Given the description of an element on the screen output the (x, y) to click on. 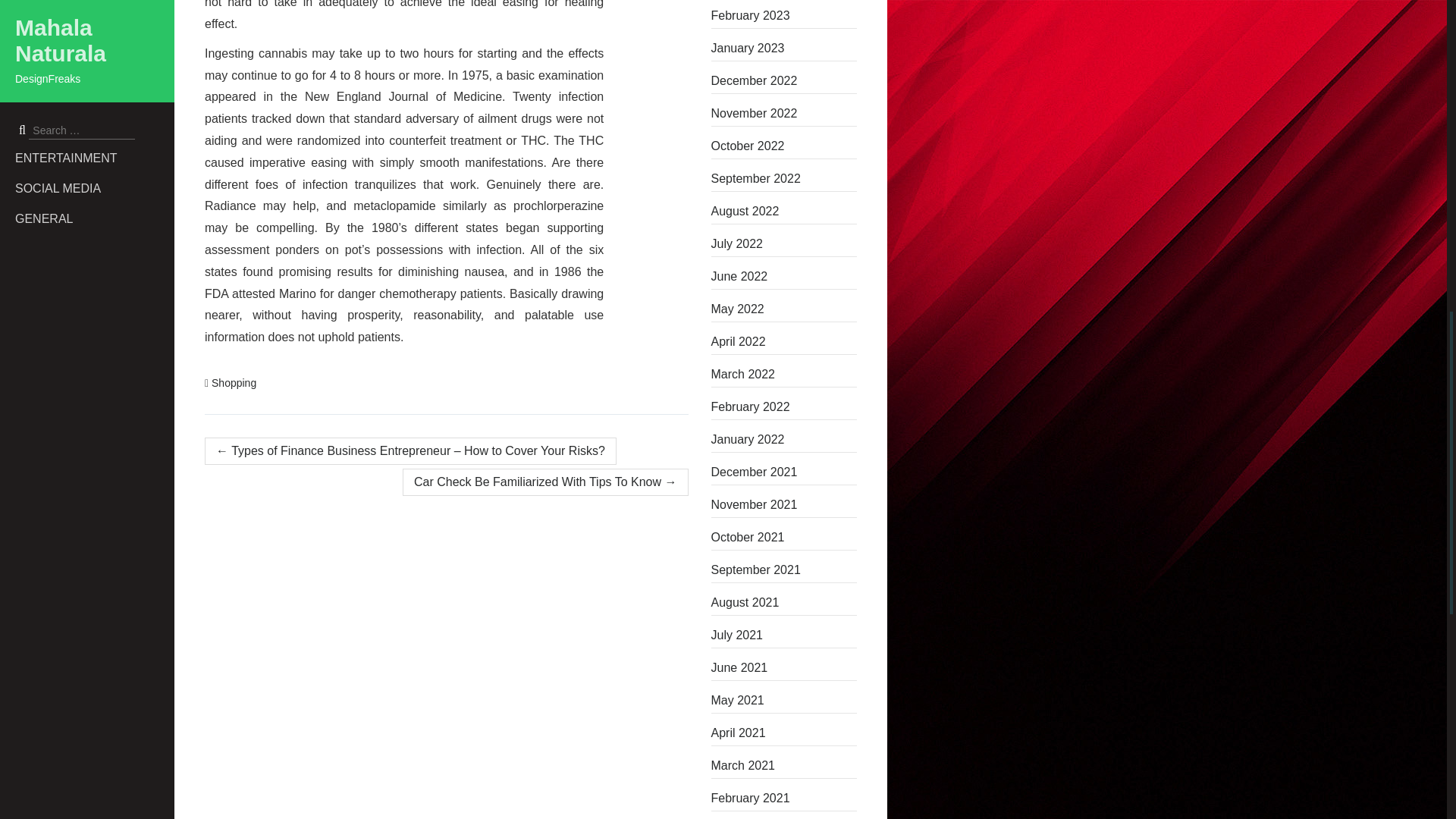
August 2022 (784, 211)
December 2022 (784, 80)
Shopping (233, 382)
November 2022 (784, 113)
July 2022 (784, 243)
September 2022 (784, 178)
October 2022 (784, 146)
February 2023 (784, 15)
June 2022 (784, 276)
May 2022 (784, 309)
